Given the description of an element on the screen output the (x, y) to click on. 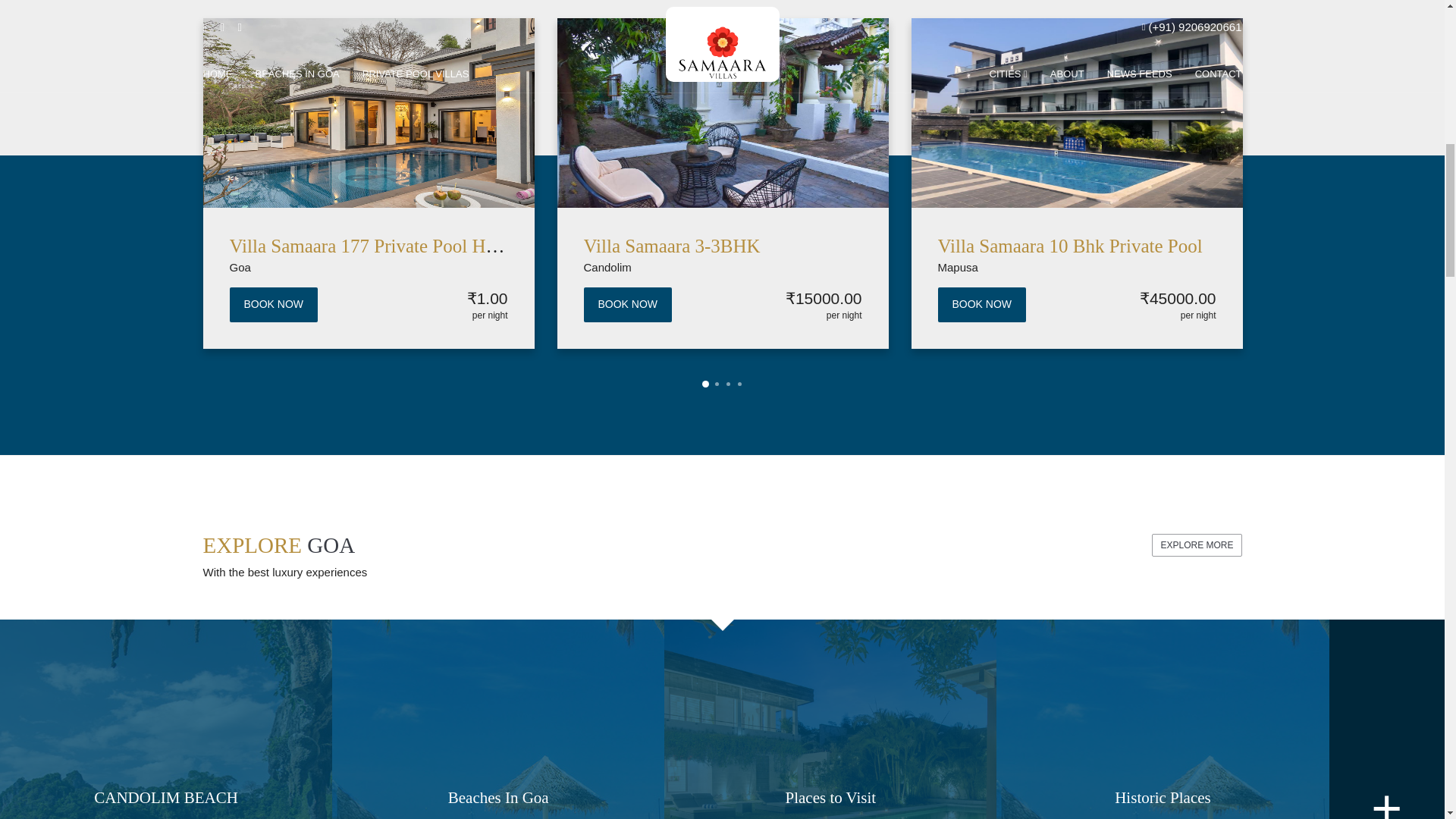
BOOK NOW (272, 304)
Villa Samaara 180 3bhk private pool villa (96, 245)
BOOK NOW (981, 304)
EXPLORE MORE (1196, 544)
Villa Samaara 177 Private Pool Holiday Villa (400, 245)
Villa Samaara 3-3BHK (671, 245)
BOOK NOW (627, 304)
Villa Samaara 10 Bhk Private Pool (1069, 245)
